Given the description of an element on the screen output the (x, y) to click on. 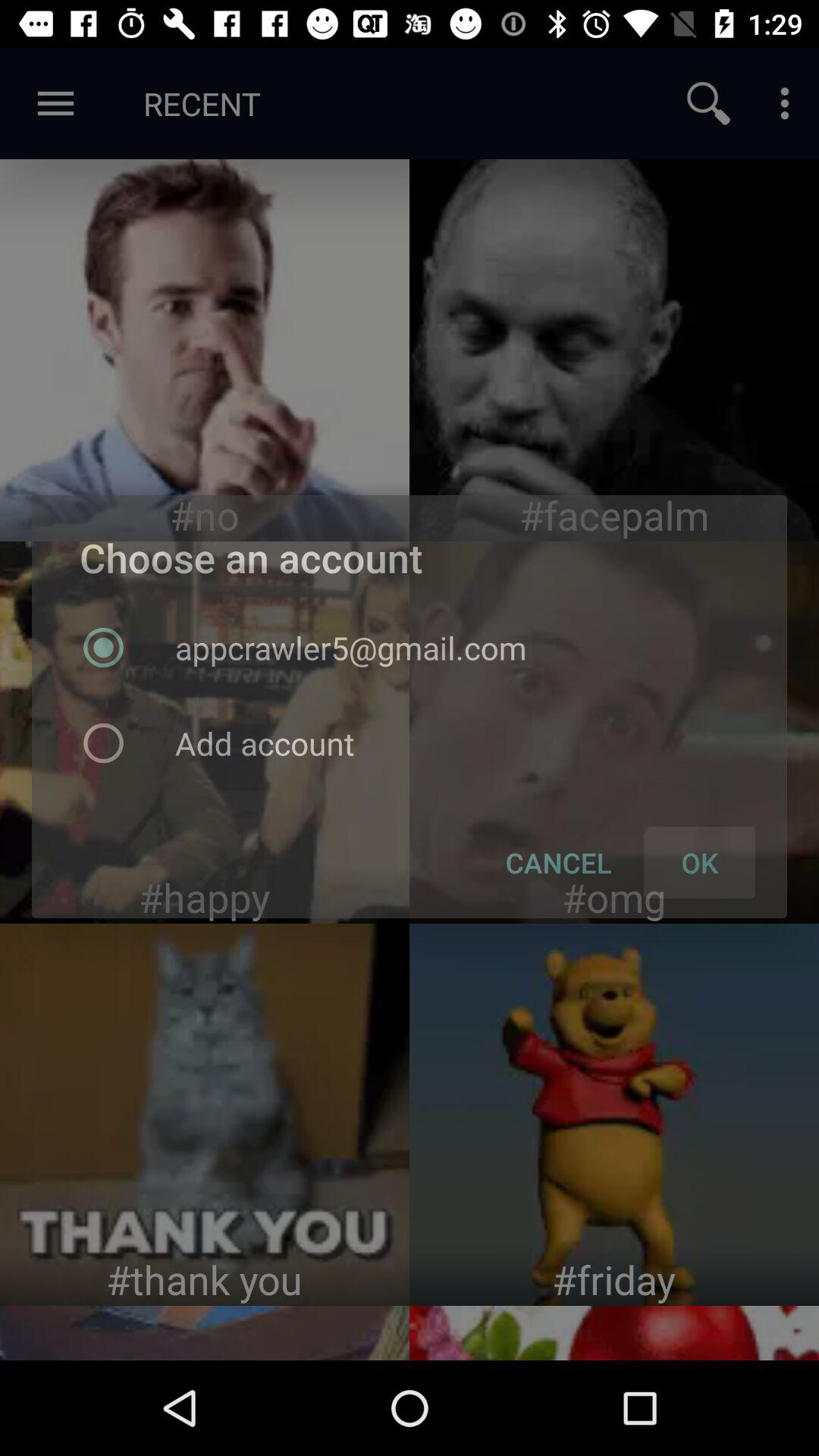
select meme (204, 1114)
